Given the description of an element on the screen output the (x, y) to click on. 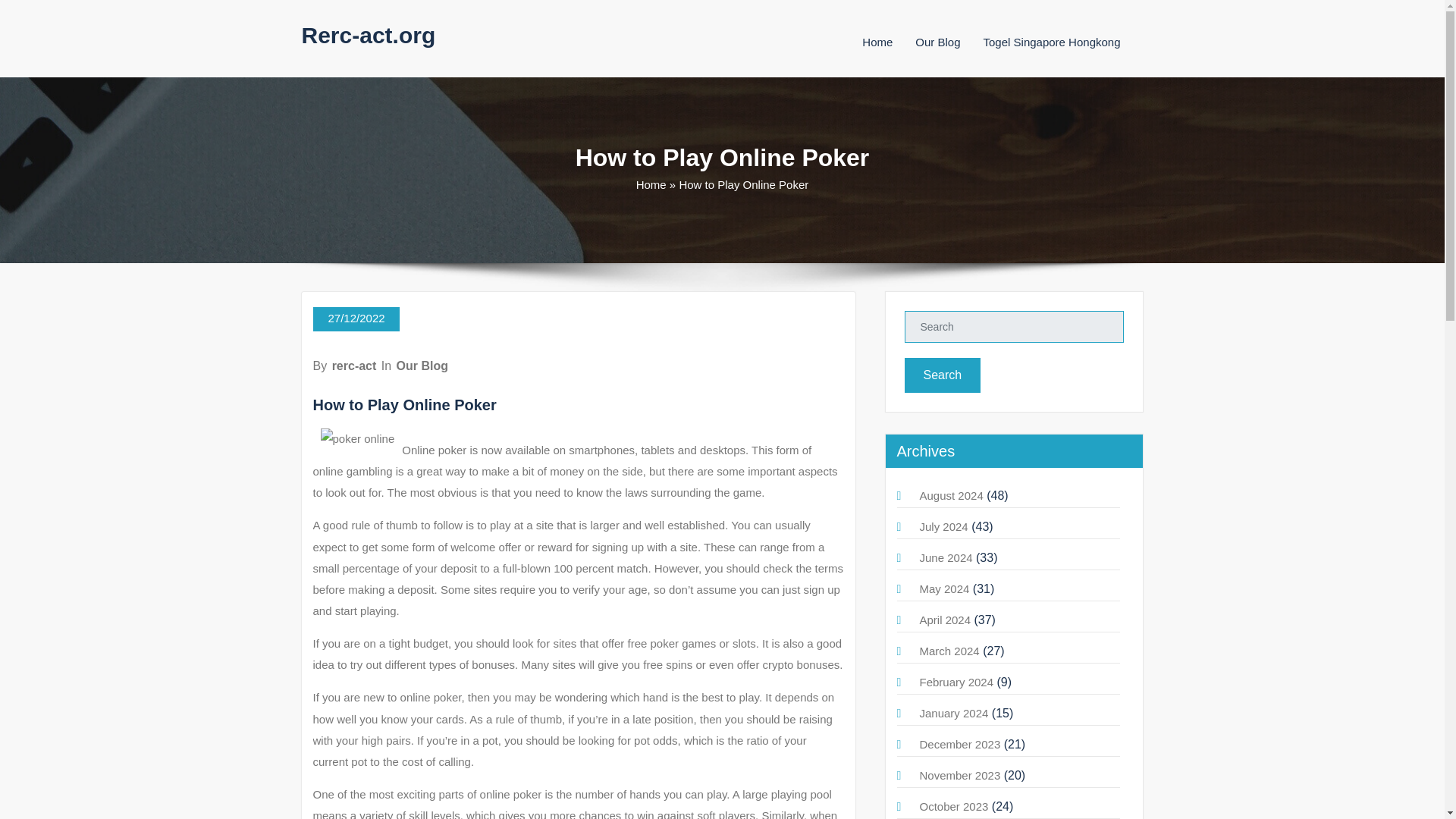
Rerc-act.org (368, 34)
August 2024 (950, 495)
Home (876, 41)
April 2024 (944, 619)
Our Blog (937, 41)
Home (651, 184)
February 2024 (955, 681)
June 2024 (945, 557)
December 2023 (959, 744)
November 2023 (959, 775)
